Given the description of an element on the screen output the (x, y) to click on. 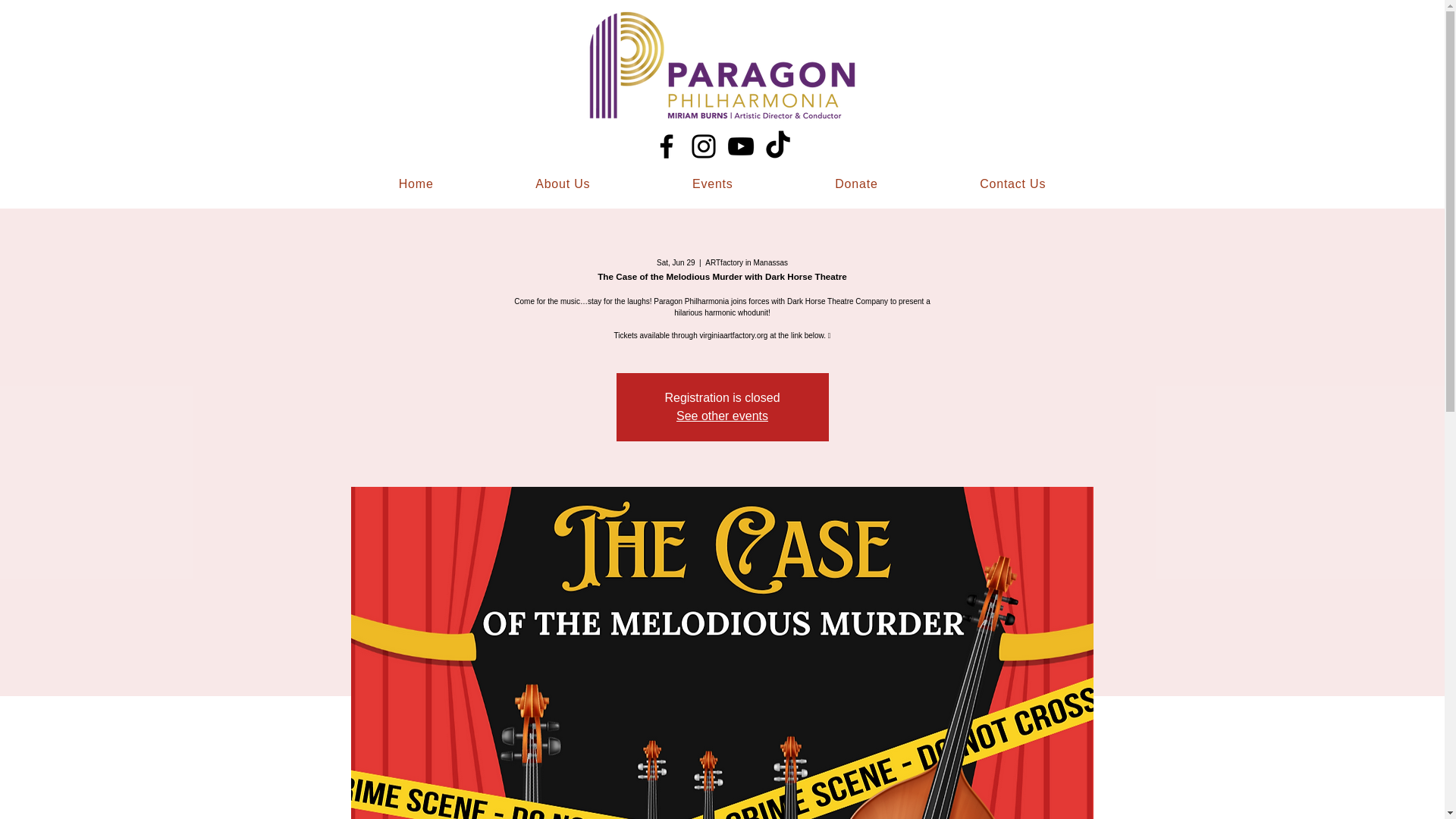
Contact Us (1012, 184)
See other events (722, 415)
Home (415, 184)
